Given the description of an element on the screen output the (x, y) to click on. 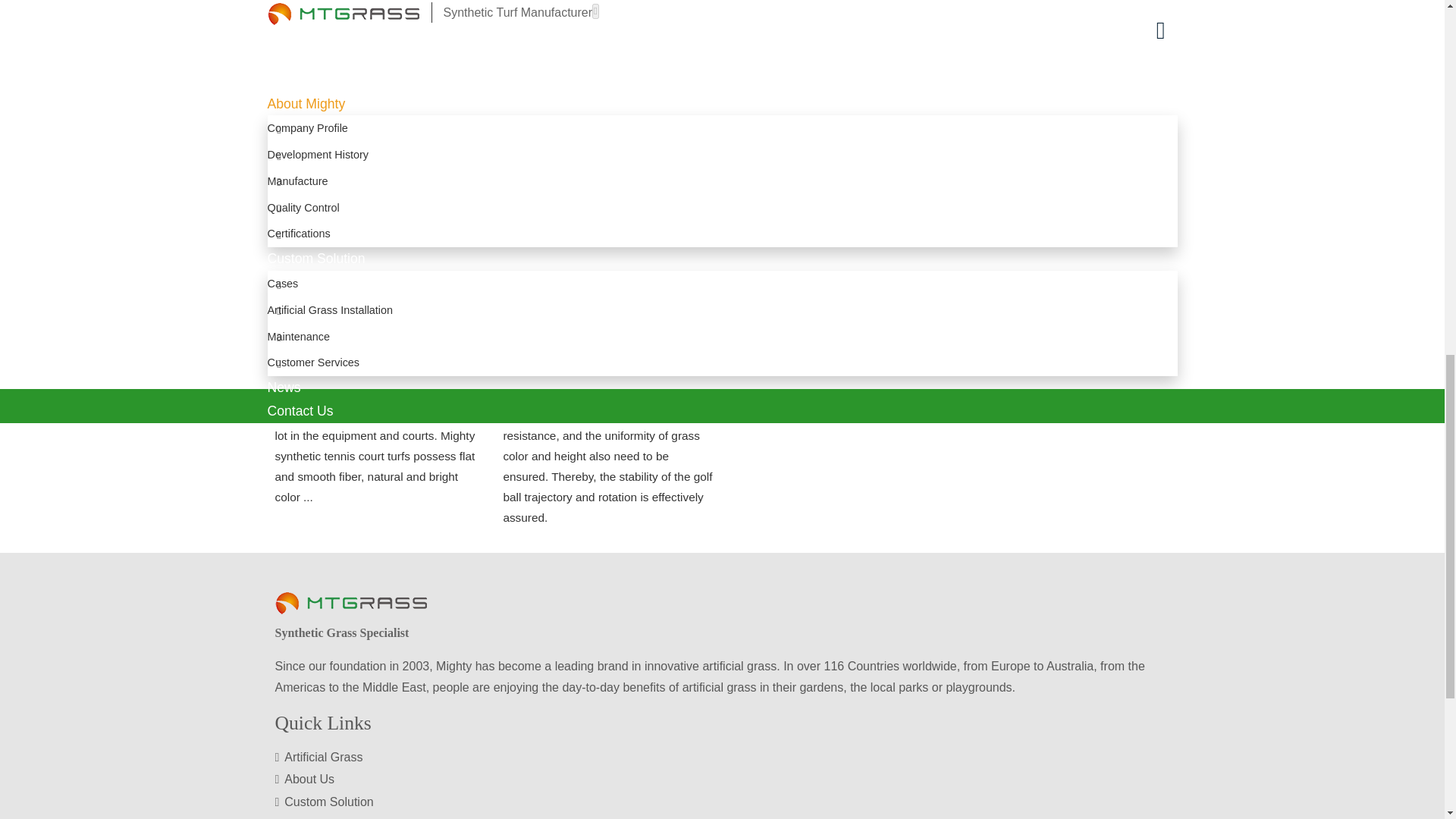
Tennis Turf (379, 317)
Custom Solution (722, 802)
About Us (722, 780)
CONTACT US (721, 21)
Residential Artificial Grass (1064, 186)
Commercial Artificial Grass (835, 186)
Golf Turf (607, 317)
Artificial Grass (722, 757)
